Given the description of an element on the screen output the (x, y) to click on. 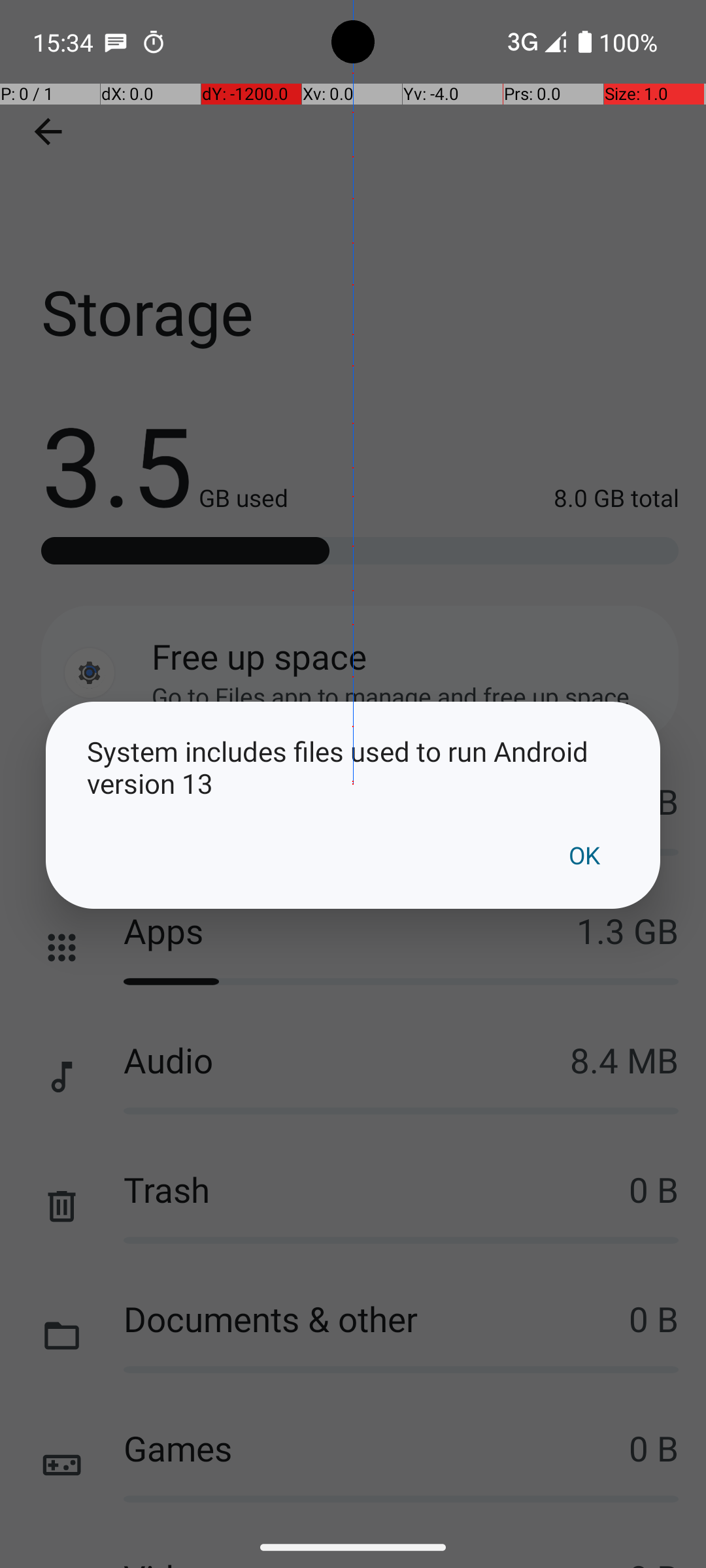
System includes files used to run Android version 13 Element type: android.widget.TextView (352, 766)
